Given the description of an element on the screen output the (x, y) to click on. 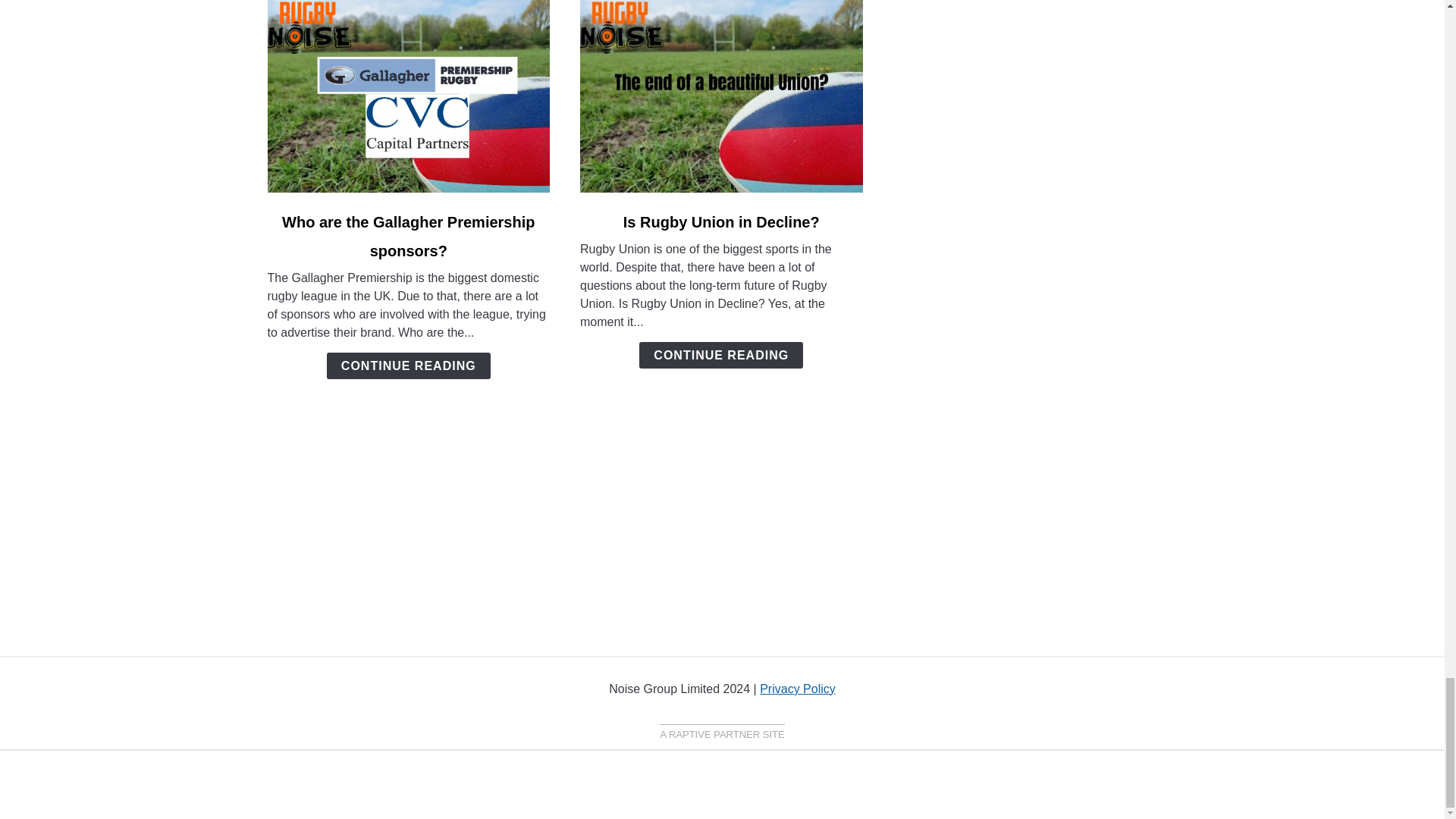
CONTINUE READING (408, 365)
link to Who are the Gallagher Premiership sponsors? (408, 96)
Who are the Gallagher Premiership sponsors? (408, 236)
link to Is Rugby Union in Decline? (721, 96)
CONTINUE READING (721, 355)
Is Rugby Union in Decline? (721, 221)
Privacy Policy (797, 688)
